Given the description of an element on the screen output the (x, y) to click on. 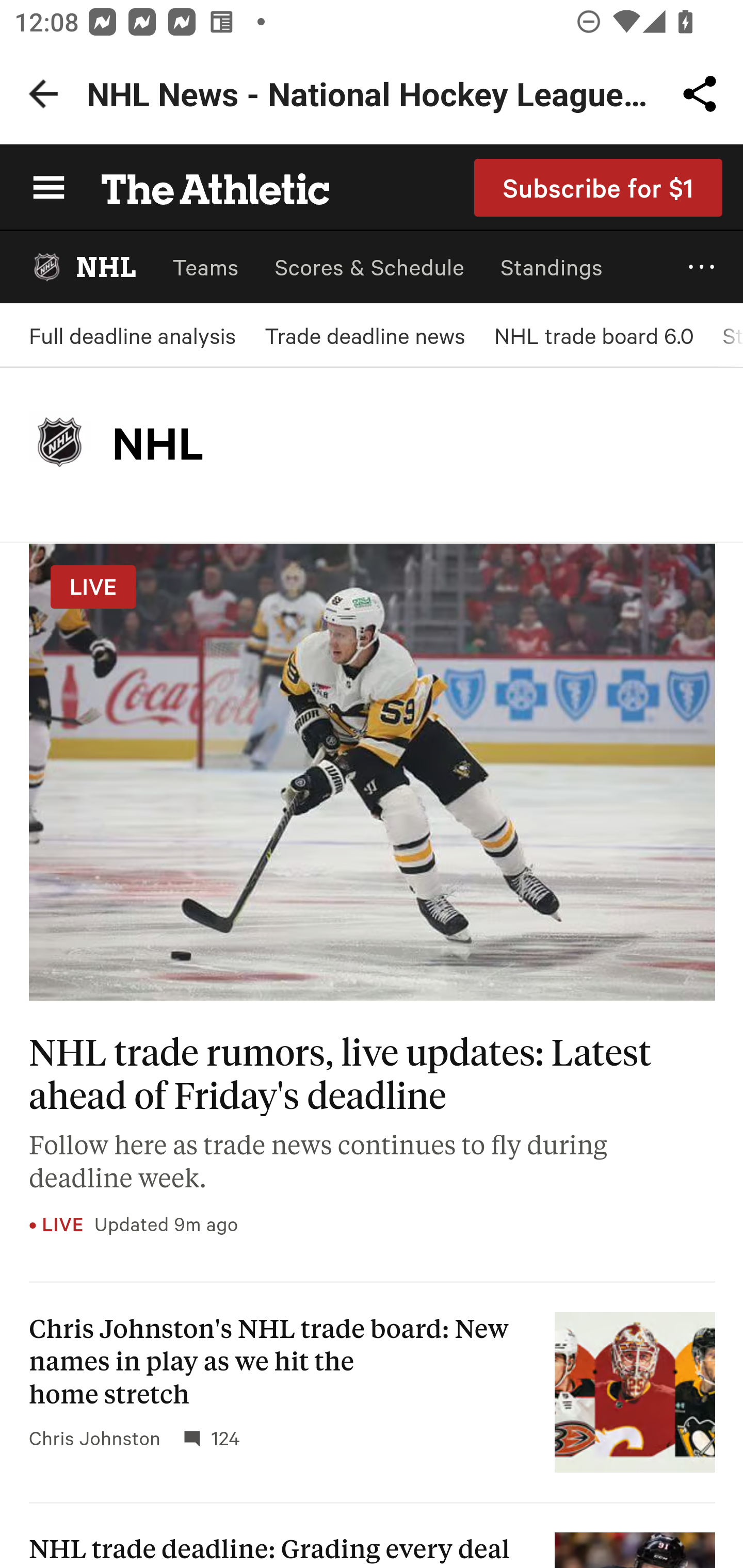
The Athletic (204, 187)
Subscribe for $1 (598, 187)
NHL NHL NHL NHL (82, 267)
Teams (205, 267)
Scores & Schedule (369, 267)
Standings (552, 267)
• • • (701, 267)
Full deadline analysis (132, 335)
Trade deadline news (364, 335)
NHL trade board 6.0 (593, 335)
NHL (60, 442)
